Given the description of an element on the screen output the (x, y) to click on. 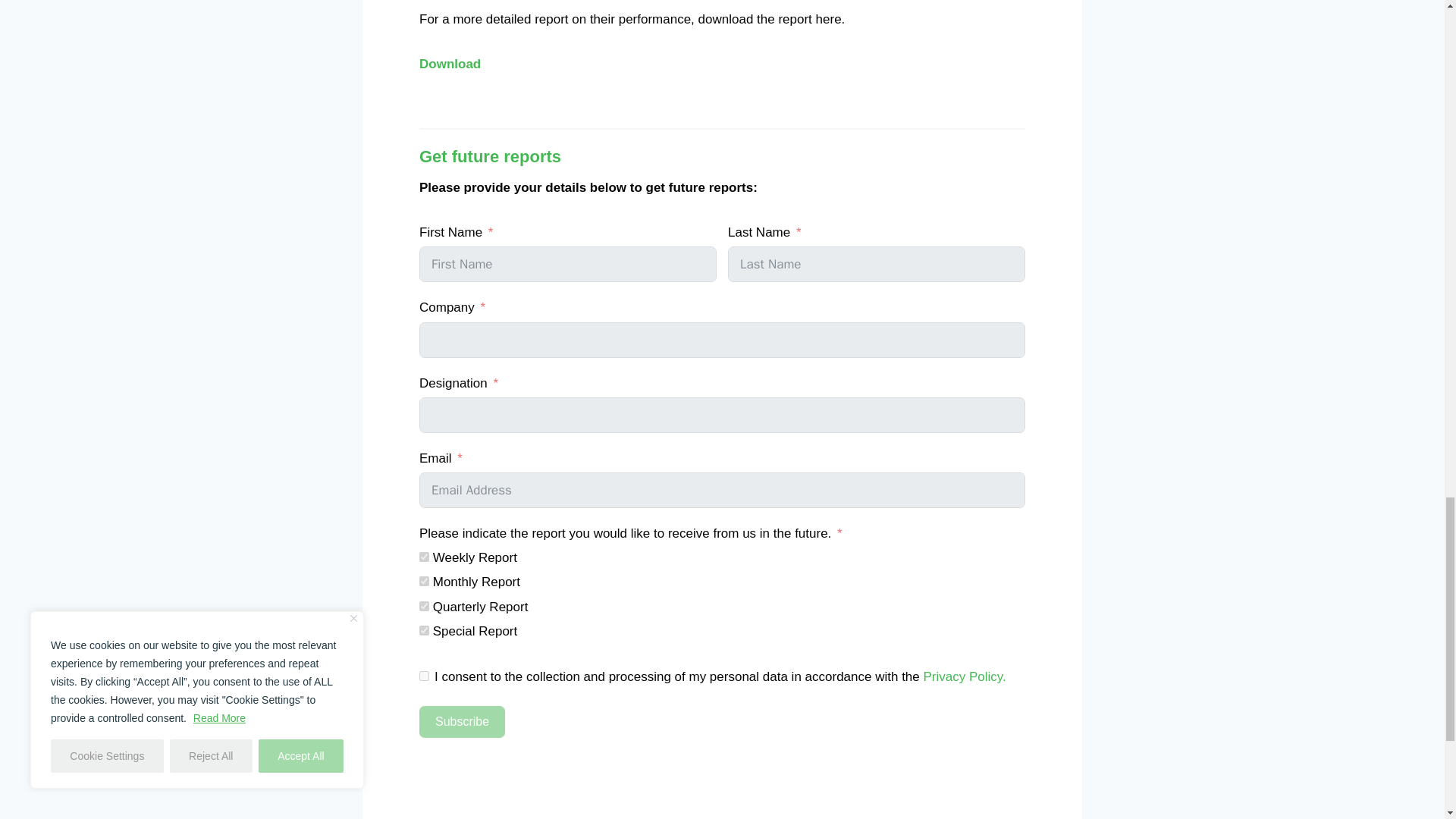
Quarterly Report (424, 605)
Weekly Report (424, 556)
Monthly Report (424, 581)
on (424, 675)
Special Report (424, 630)
